Given the description of an element on the screen output the (x, y) to click on. 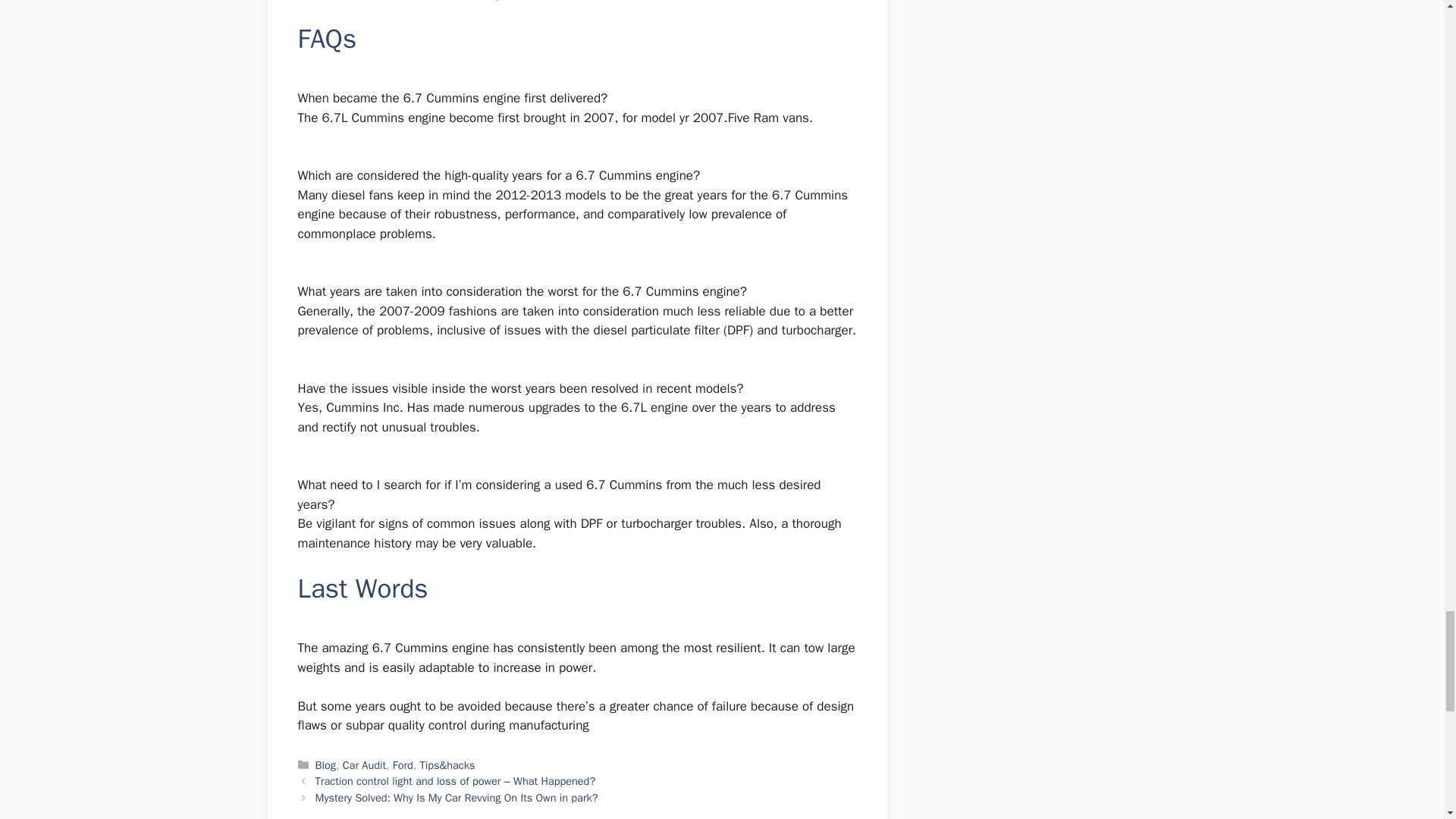
Ford (403, 765)
Car Audit (363, 765)
Blog (325, 765)
Mystery Solved: Why Is My Car Revving On Its Own in park? (456, 797)
